Given the description of an element on the screen output the (x, y) to click on. 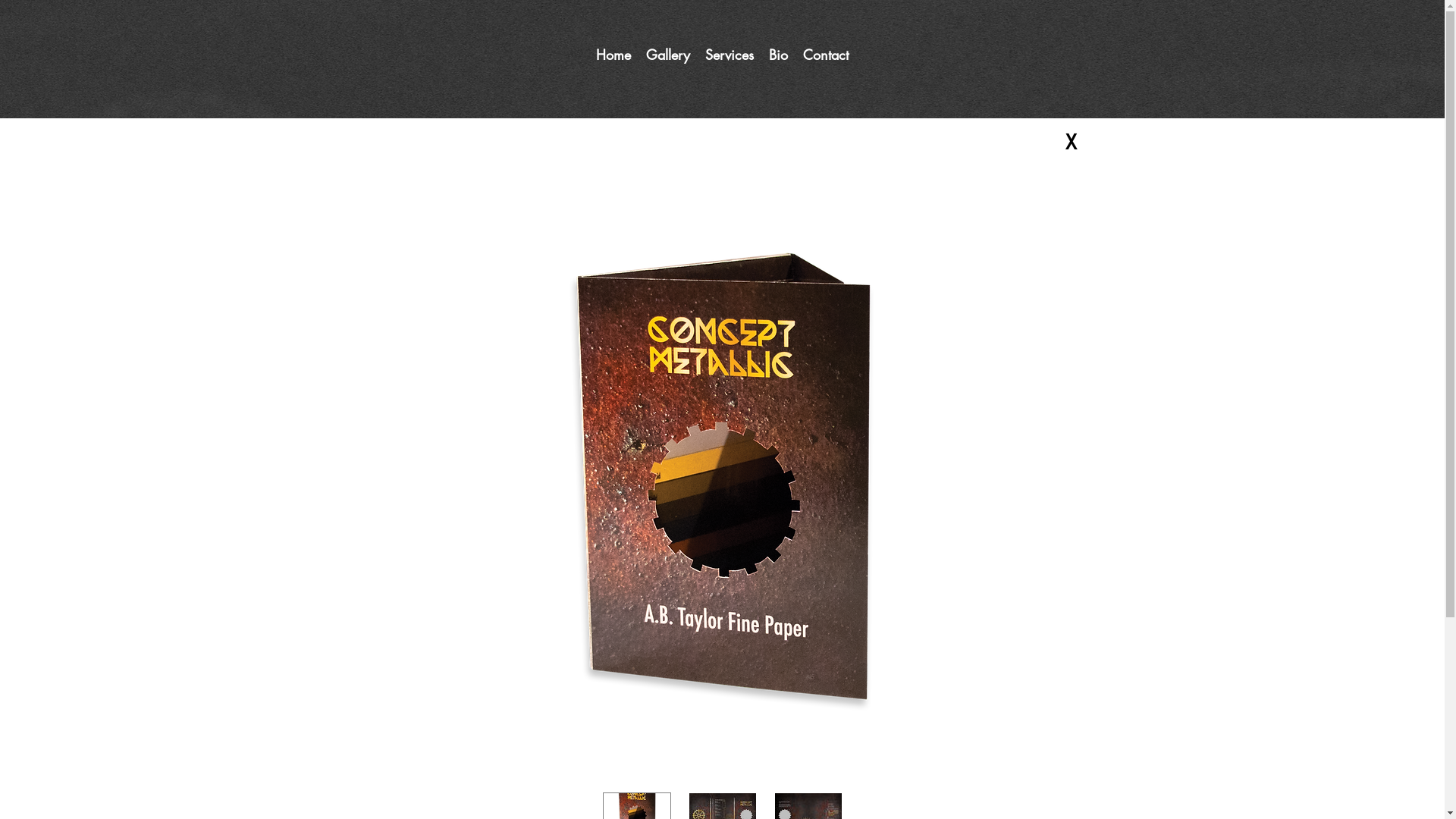
Home Element type: text (613, 54)
X Element type: text (1070, 142)
Contact Element type: text (825, 54)
Bio Element type: text (778, 54)
Services Element type: text (729, 54)
Gallery Element type: text (667, 54)
